Given the description of an element on the screen output the (x, y) to click on. 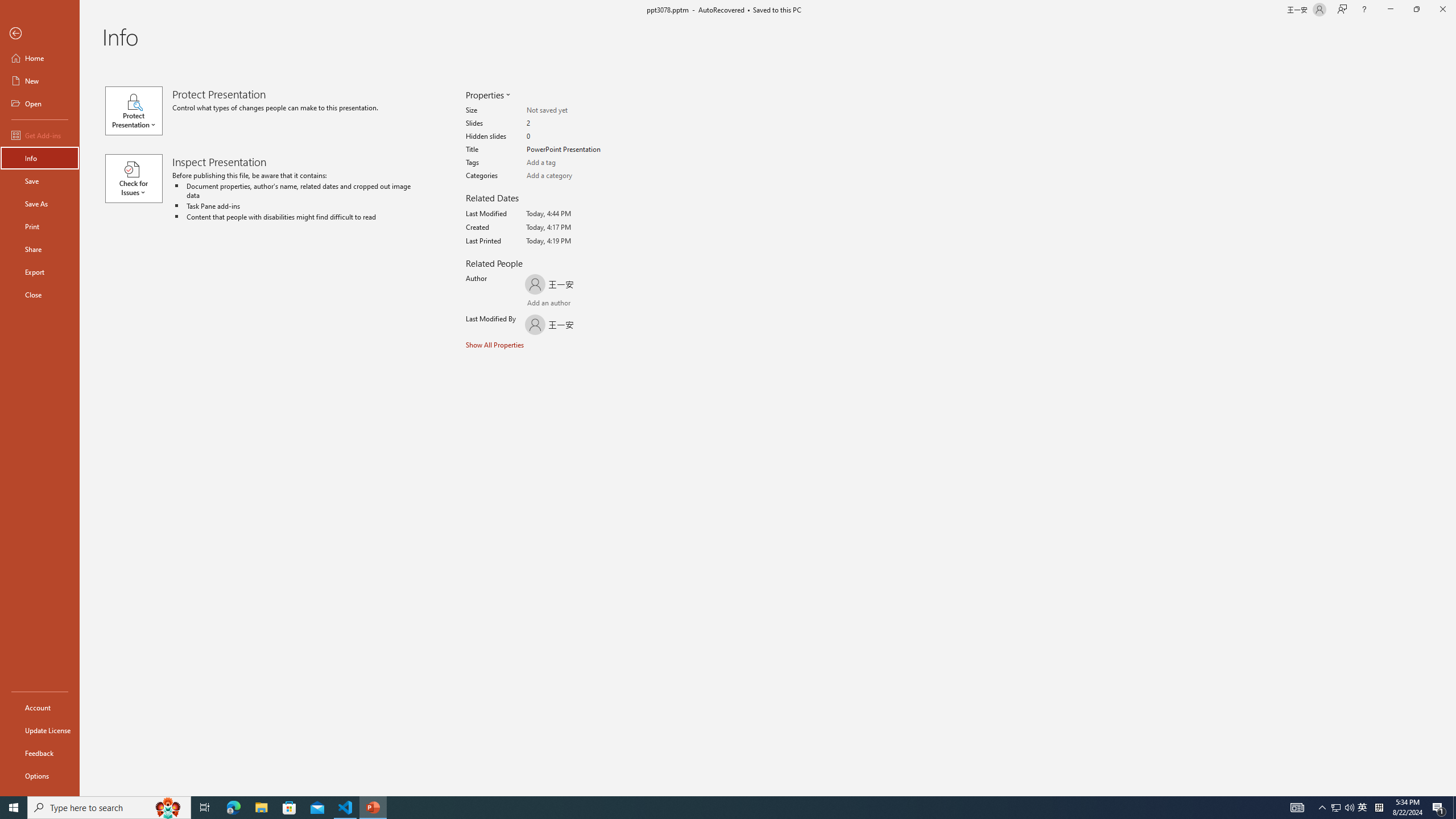
Save As (40, 203)
Account (40, 707)
Tags (571, 162)
Protect Presentation (137, 110)
Update License (40, 730)
Verify Names (559, 304)
Back (40, 33)
Add an author (538, 304)
Hidden slides (571, 136)
